Given the description of an element on the screen output the (x, y) to click on. 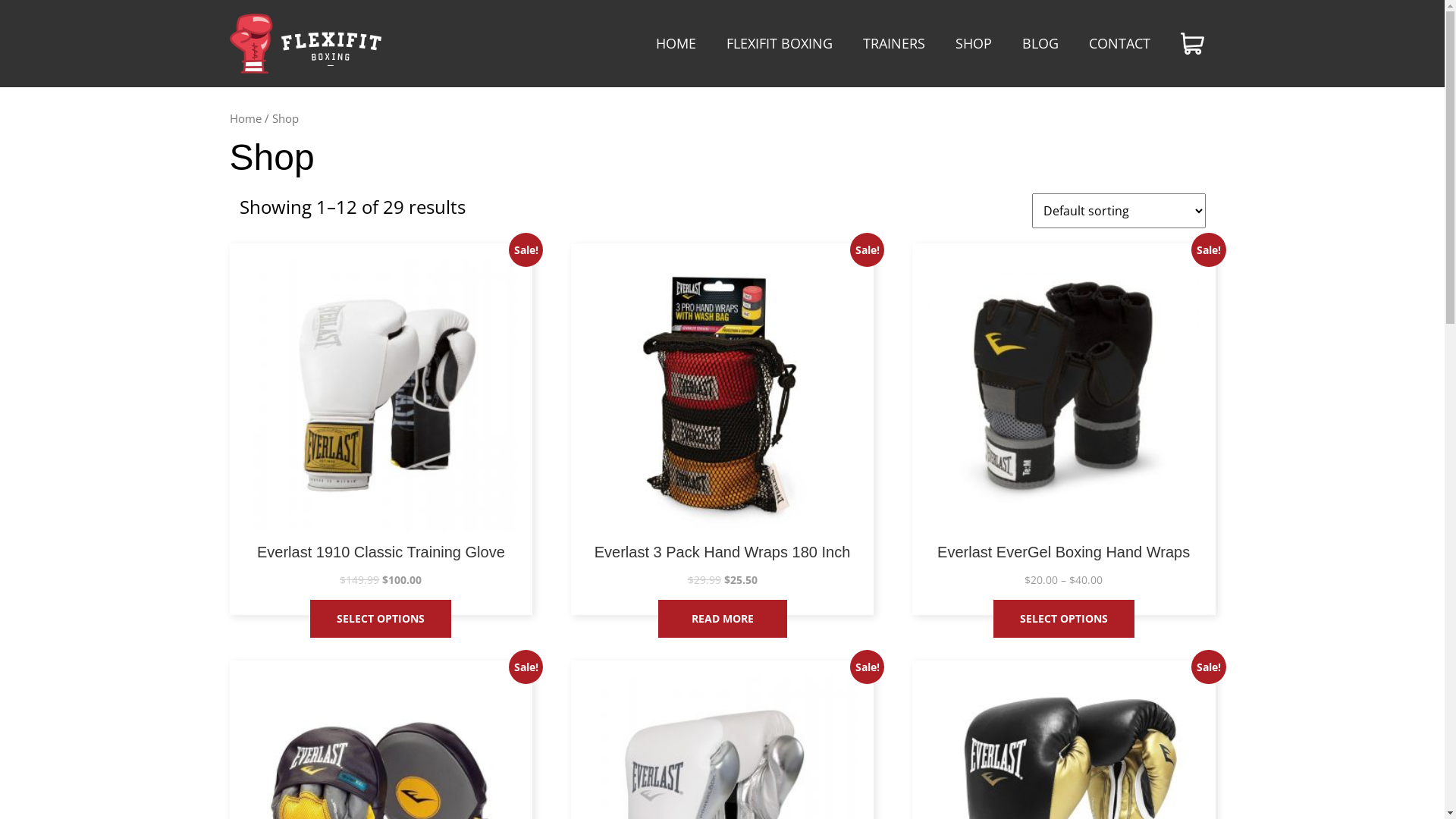
TRAINERS Element type: text (893, 42)
READ MORE Element type: text (722, 618)
Sale!
Everlast 1910 Classic Training Glove
$149.99 $100.00 Element type: text (380, 423)
FLEXIFIT BOXING Element type: text (779, 42)
CONTACT Element type: text (1111, 42)
SELECT OPTIONS Element type: text (380, 618)
SHOP Element type: text (973, 42)
View your shopping cart Element type: hover (1196, 43)
HOME Element type: text (675, 42)
BLOG Element type: text (1040, 42)
SELECT OPTIONS Element type: text (1063, 618)
Home Element type: text (244, 117)
Sale!
Everlast 3 Pack Hand Wraps 180 Inch
$29.99 $25.50 Element type: text (722, 423)
